Given the description of an element on the screen output the (x, y) to click on. 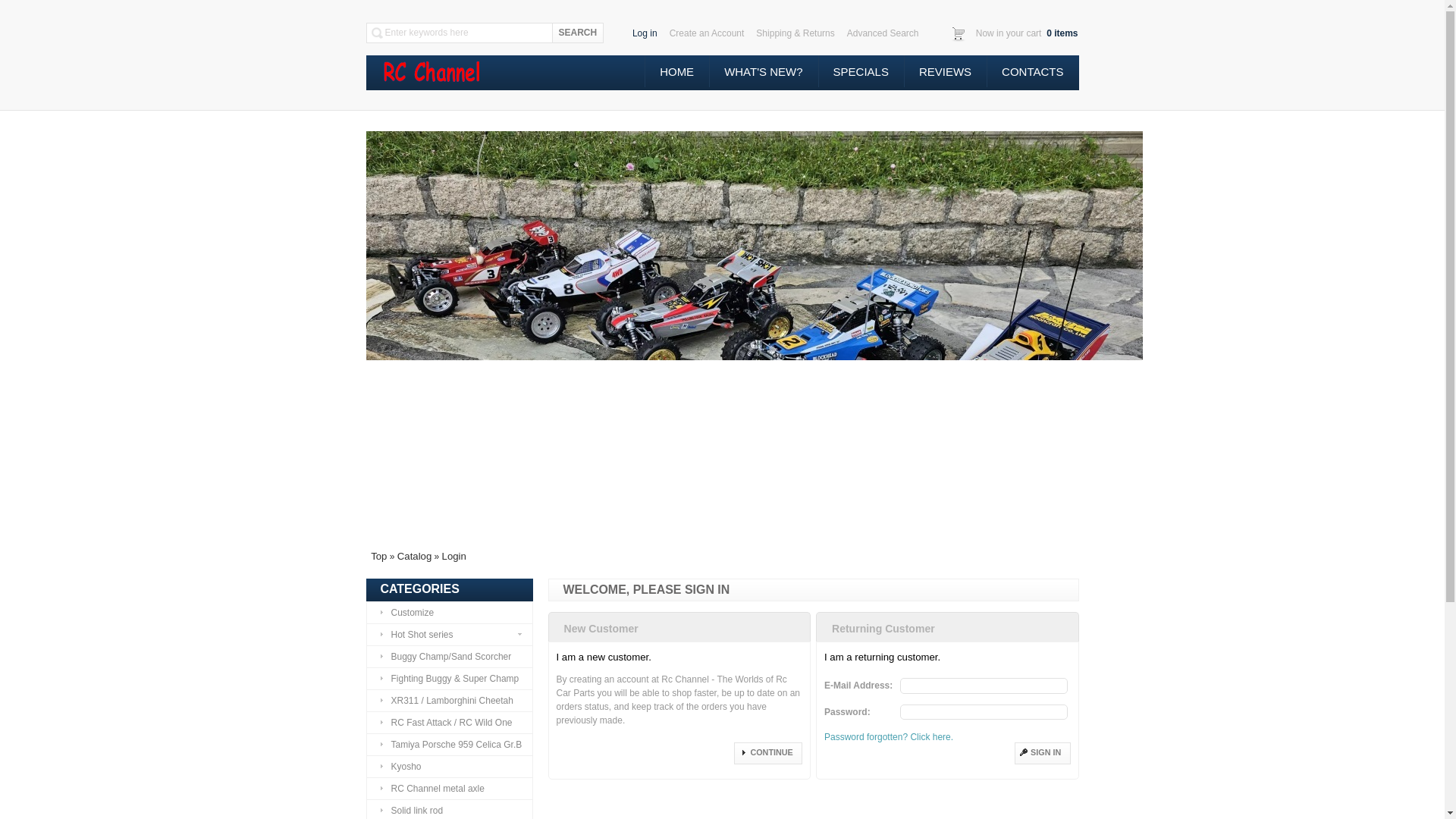
Customize (449, 612)
CONTINUE (767, 752)
Catalog (413, 556)
Top (379, 556)
Enter keywords here (465, 31)
Tamiya Porsche 959 Celica Gr.B (449, 744)
Kyosho (449, 766)
SPECIALS (861, 70)
0 items (1060, 32)
